Given the description of an element on the screen output the (x, y) to click on. 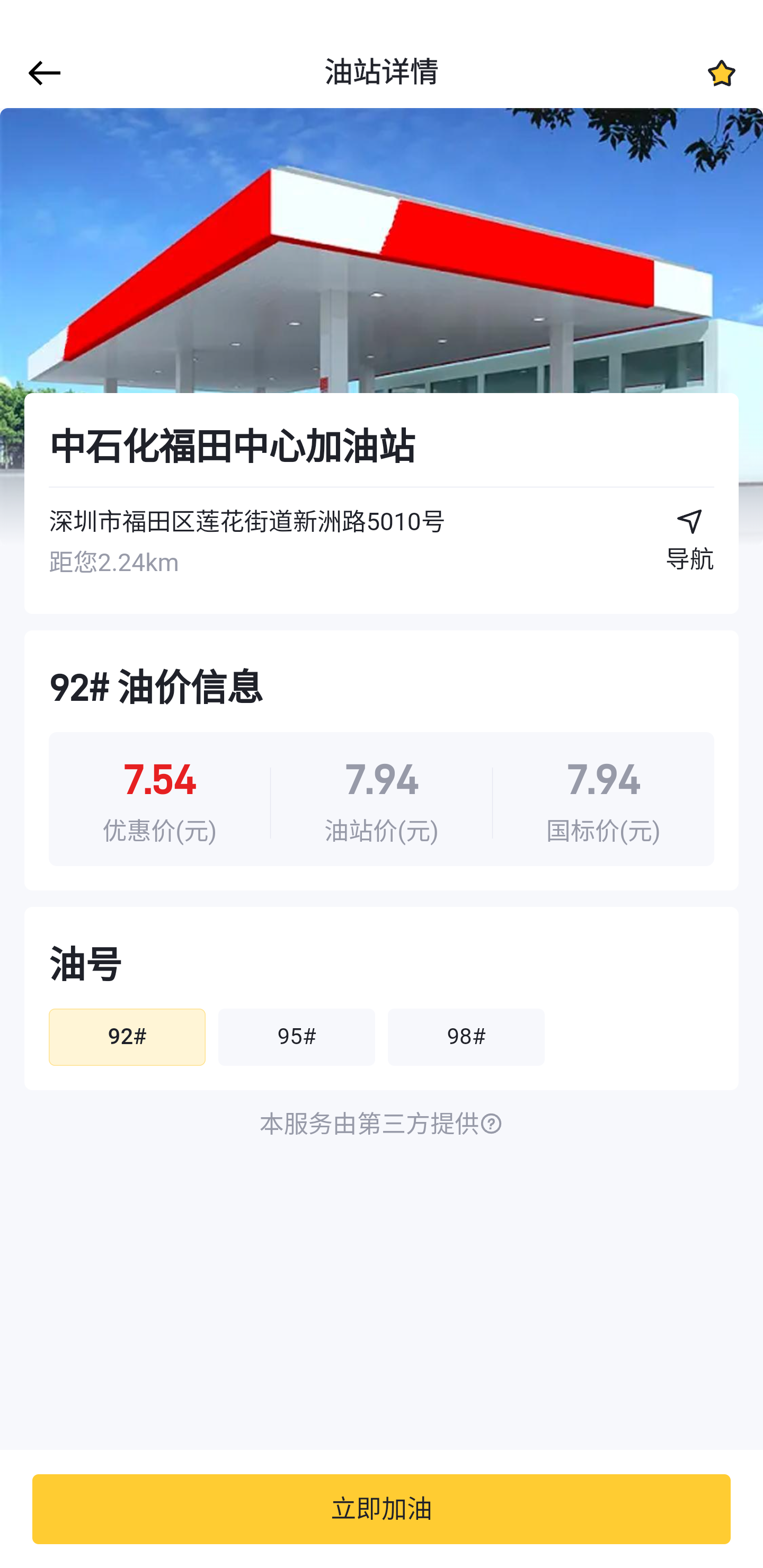
 (41, 72)
油站详情 (381, 72)
default.0da6835c (381, 327)
导航 (689, 547)
92#  (126, 1037)
95#  (296, 1037)
98#  (466, 1037)
本服务由第三方提供 (381, 1124)
立即加油 (381, 1508)
